Given the description of an element on the screen output the (x, y) to click on. 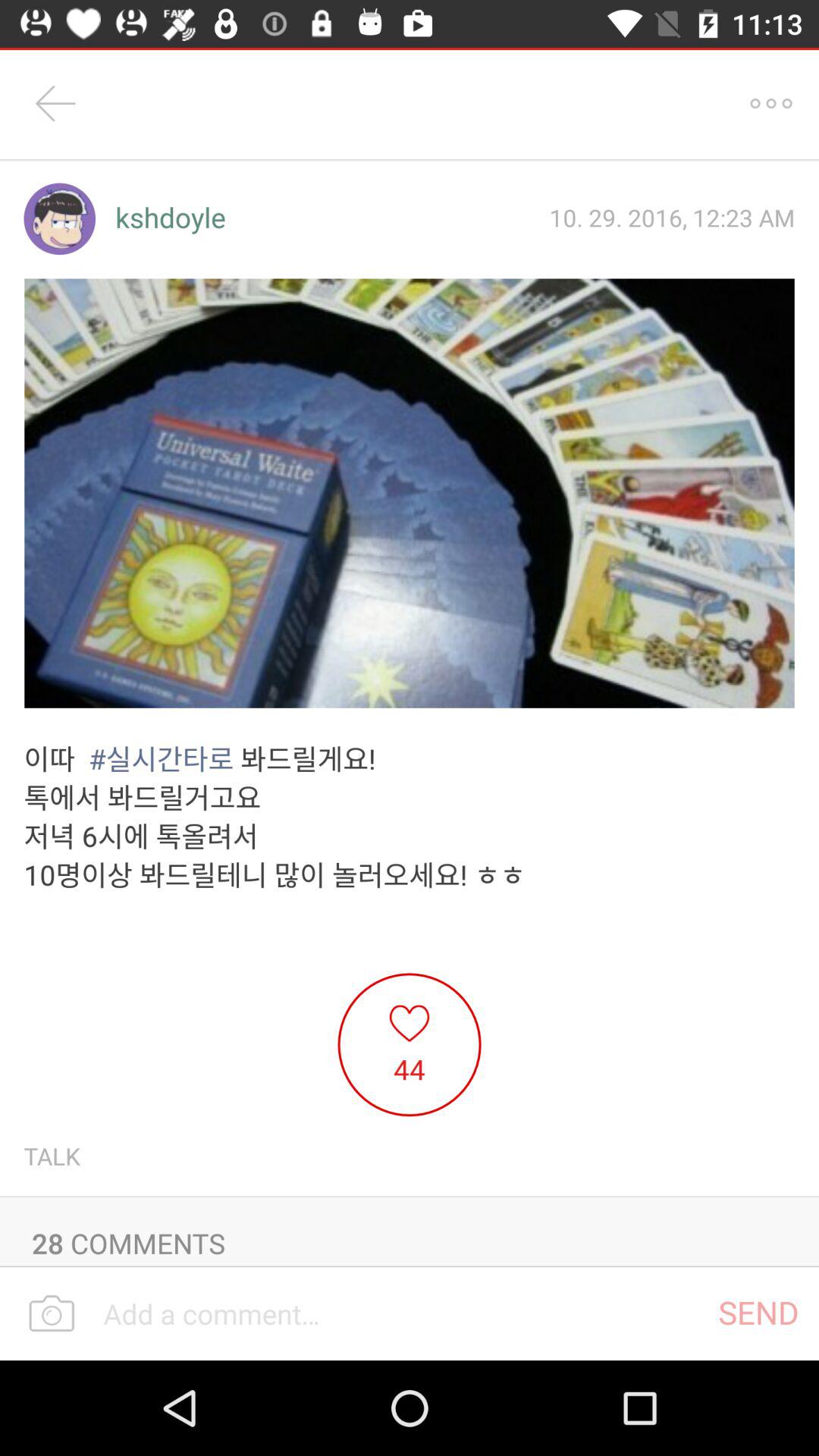
open the icon next to the 10 29 2016 item (170, 218)
